Given the description of an element on the screen output the (x, y) to click on. 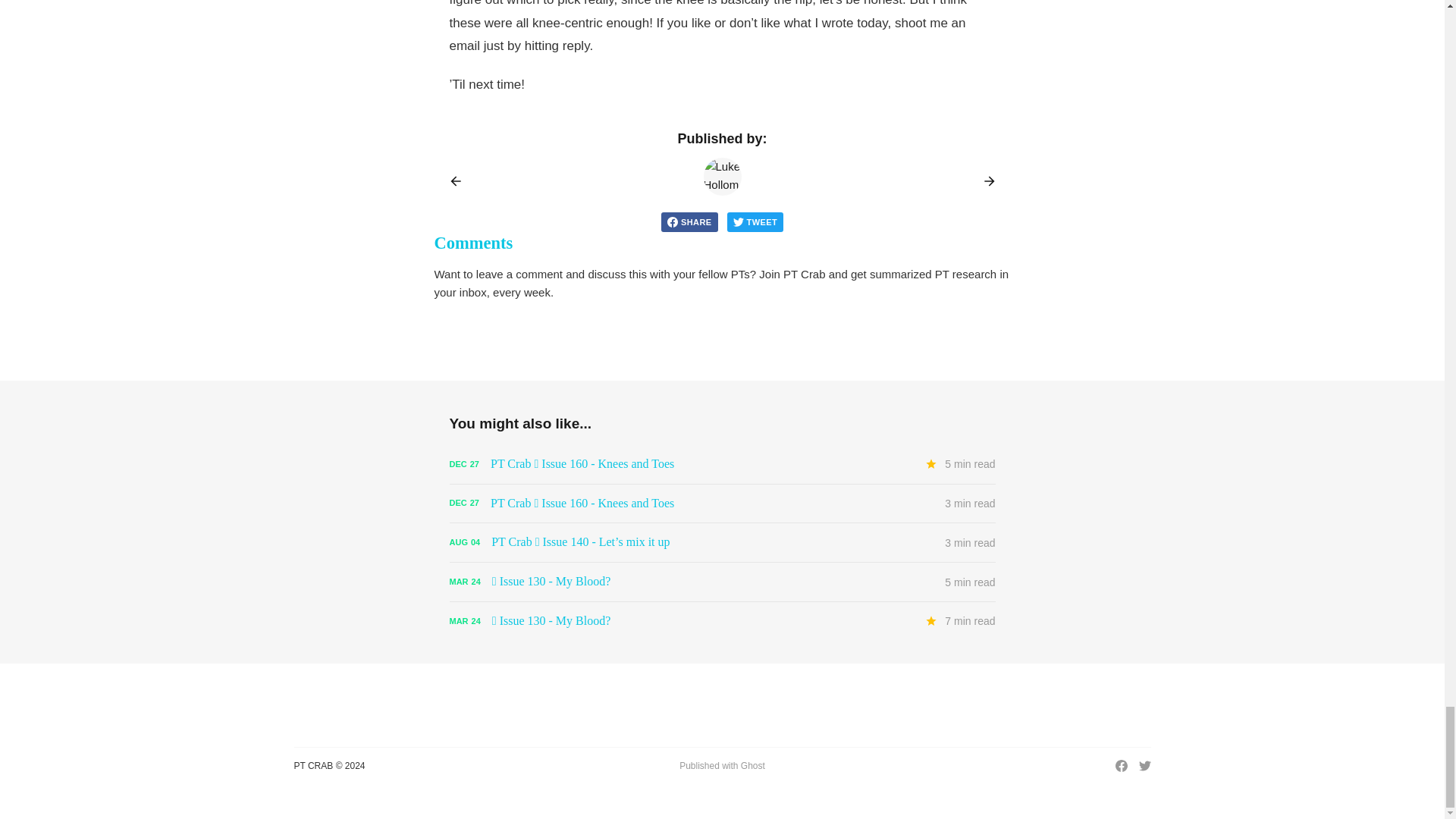
Published with Ghost (722, 766)
TWEET (755, 221)
SHARE (689, 221)
